Given the description of an element on the screen output the (x, y) to click on. 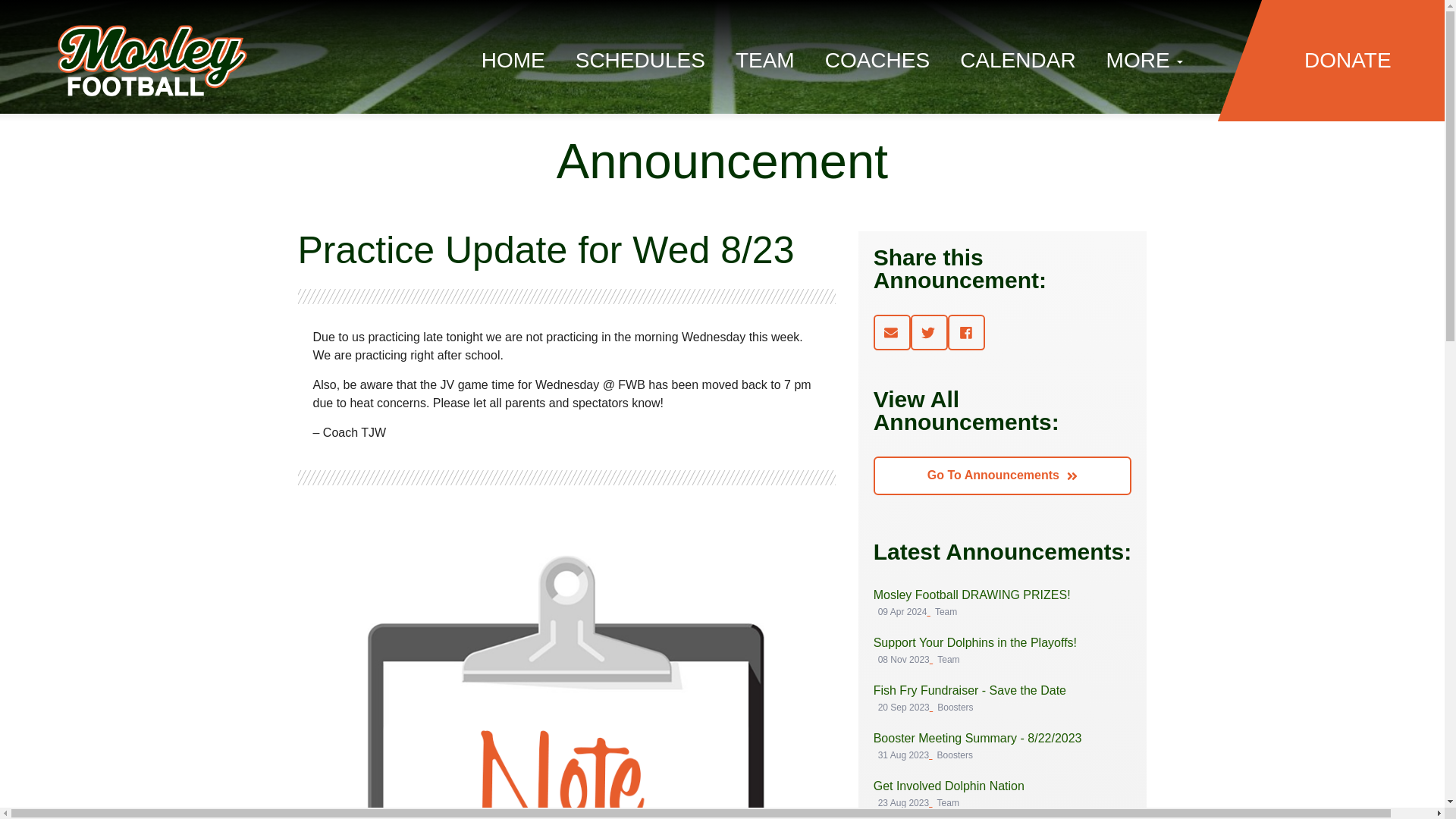
Calendar (1017, 60)
COACHES (876, 60)
MORE (1145, 60)
Home (513, 60)
Team (765, 60)
DONATE (1348, 60)
TEAM (765, 60)
HOME (513, 60)
Coaches (876, 60)
SCHEDULES (640, 60)
Schedules (949, 796)
Go To Announcements (640, 60)
Donate (1002, 475)
